Given the description of an element on the screen output the (x, y) to click on. 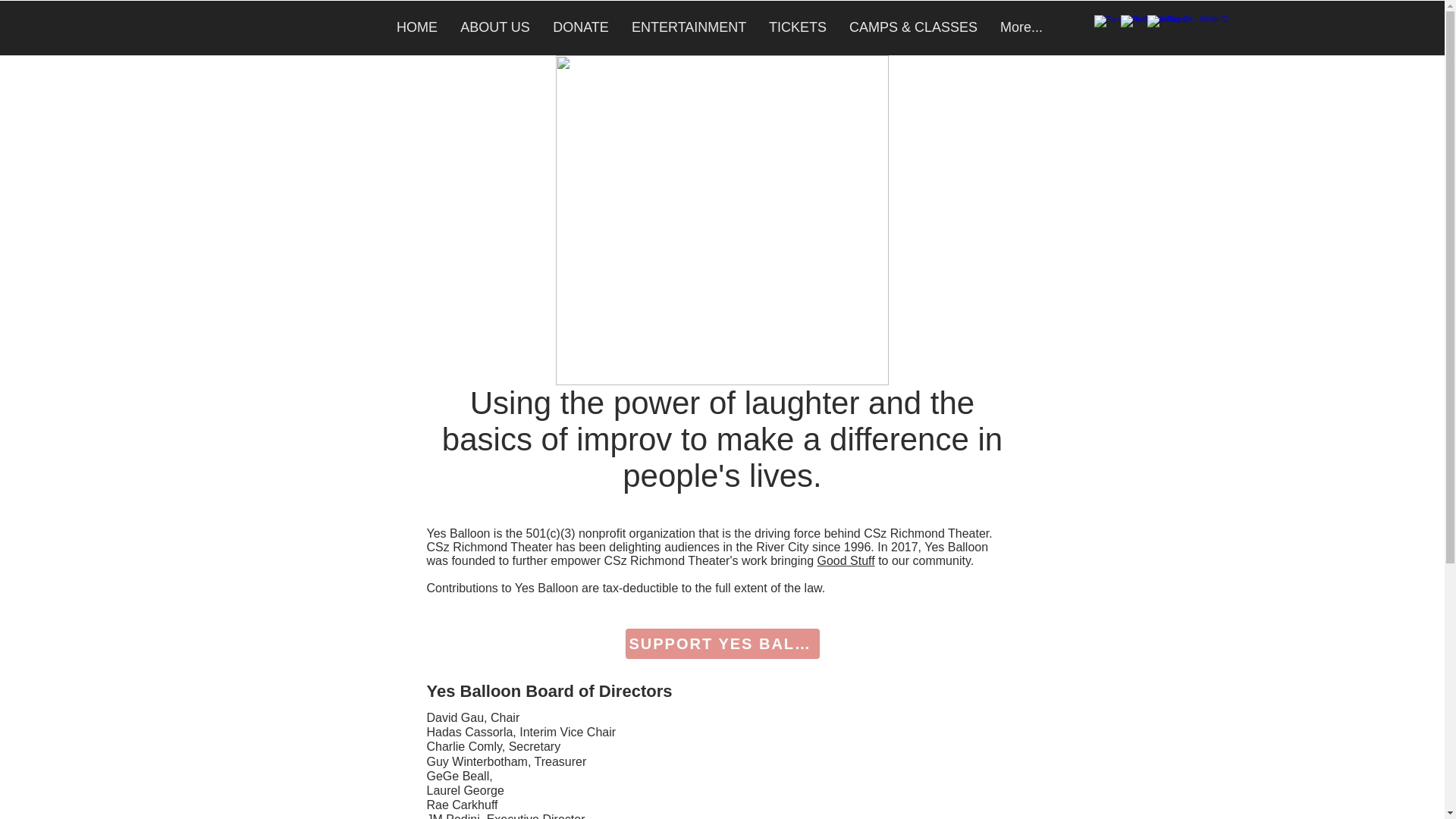
SUPPORT YES BALLOON (721, 643)
TICKETS (797, 27)
ENTERTAINMENT (688, 27)
DONATE (580, 27)
HOME (416, 27)
Good Stuff (845, 560)
